Given the description of an element on the screen output the (x, y) to click on. 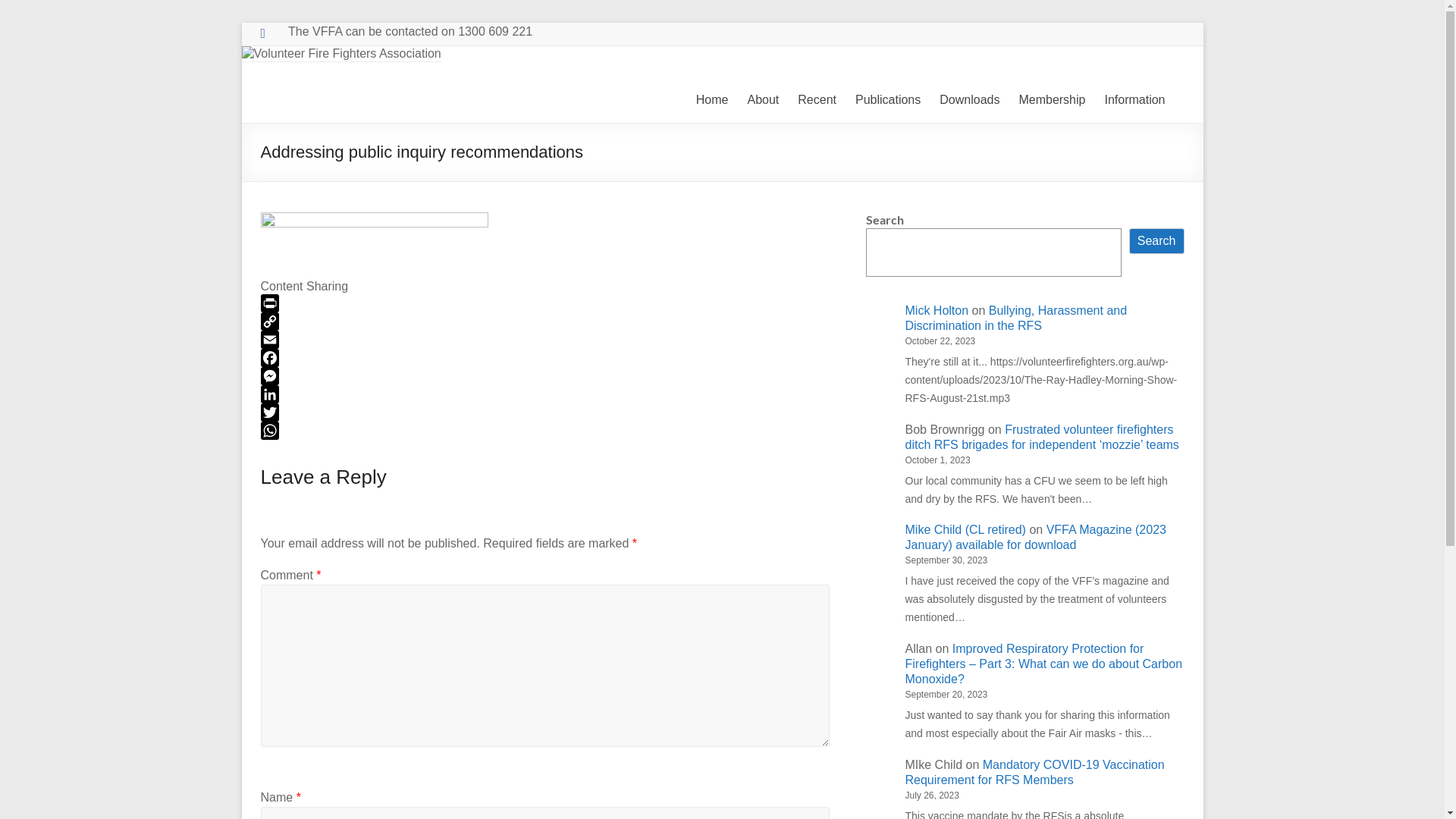
Mick Holton Element type: text (937, 310)
Volunteer Fire Fighters Association Element type: text (328, 136)
Messenger Element type: text (544, 376)
Bullying, Harassment and Discrimination in the RFS Element type: text (1016, 318)
PrintFriendly Element type: text (544, 303)
Search Element type: text (1156, 241)
Information Element type: text (1134, 99)
Membership Element type: text (1051, 99)
Home Element type: text (712, 99)
Twitter Element type: text (544, 412)
Facebook Element type: text (544, 357)
Skip to content Element type: text (241, 21)
LinkedIn Element type: text (544, 394)
WhatsApp Element type: text (544, 430)
Mandatory COVID-19 Vaccination Requirement for RFS Members Element type: text (1034, 772)
Publications Element type: text (887, 99)
Downloads Element type: text (969, 99)
Recent Element type: text (816, 99)
Copy Link Element type: text (544, 321)
Email Element type: text (544, 339)
Mike Child (CL retired) Element type: text (965, 529)
About Element type: text (762, 99)
VFFA Magazine (2023 January) available for download Element type: text (1035, 537)
